Given the description of an element on the screen output the (x, y) to click on. 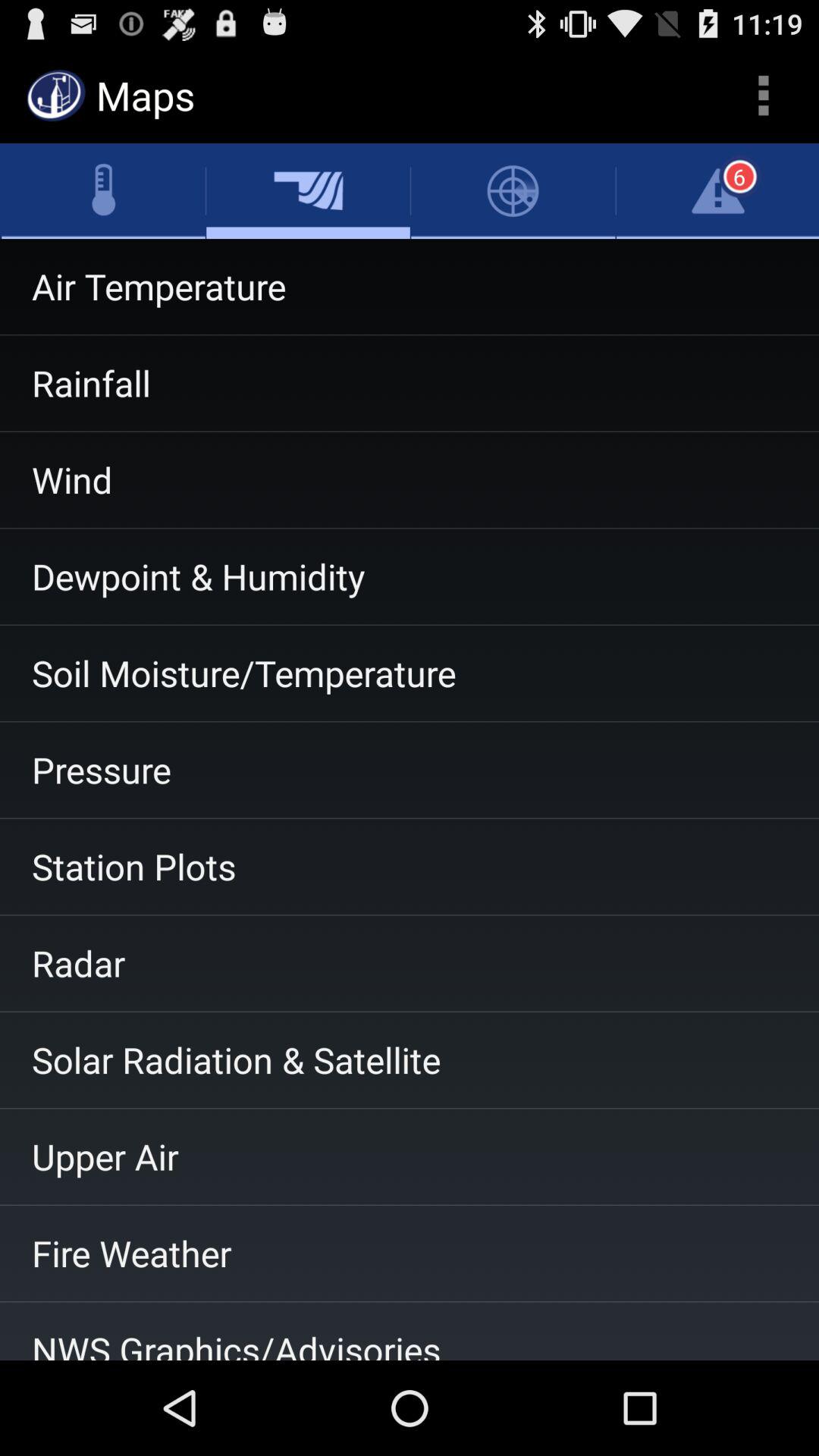
press item above the wind item (409, 383)
